Given the description of an element on the screen output the (x, y) to click on. 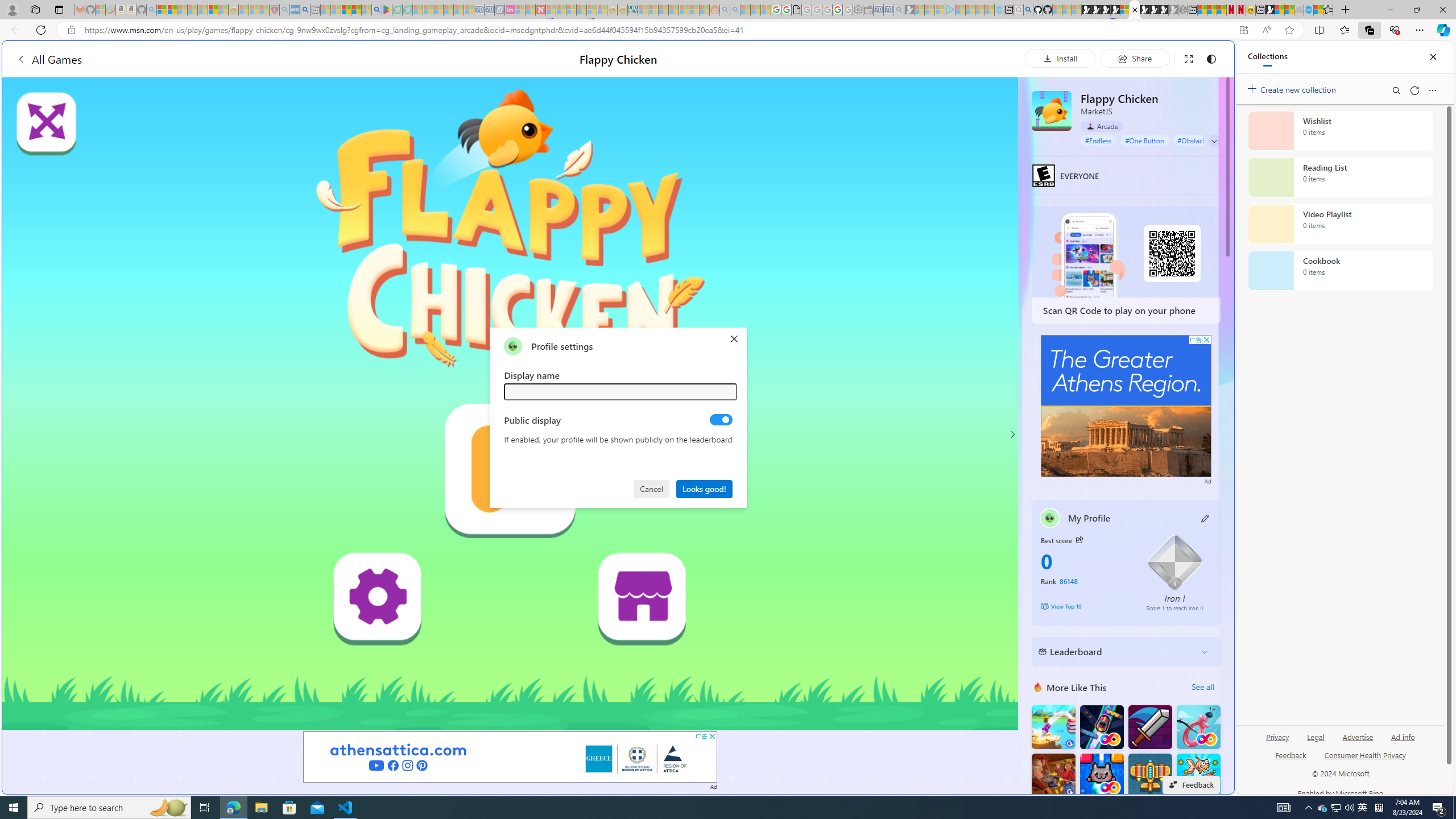
See all (1202, 687)
Close split screen (1208, 57)
EVERYONE (1043, 175)
